Given the description of an element on the screen output the (x, y) to click on. 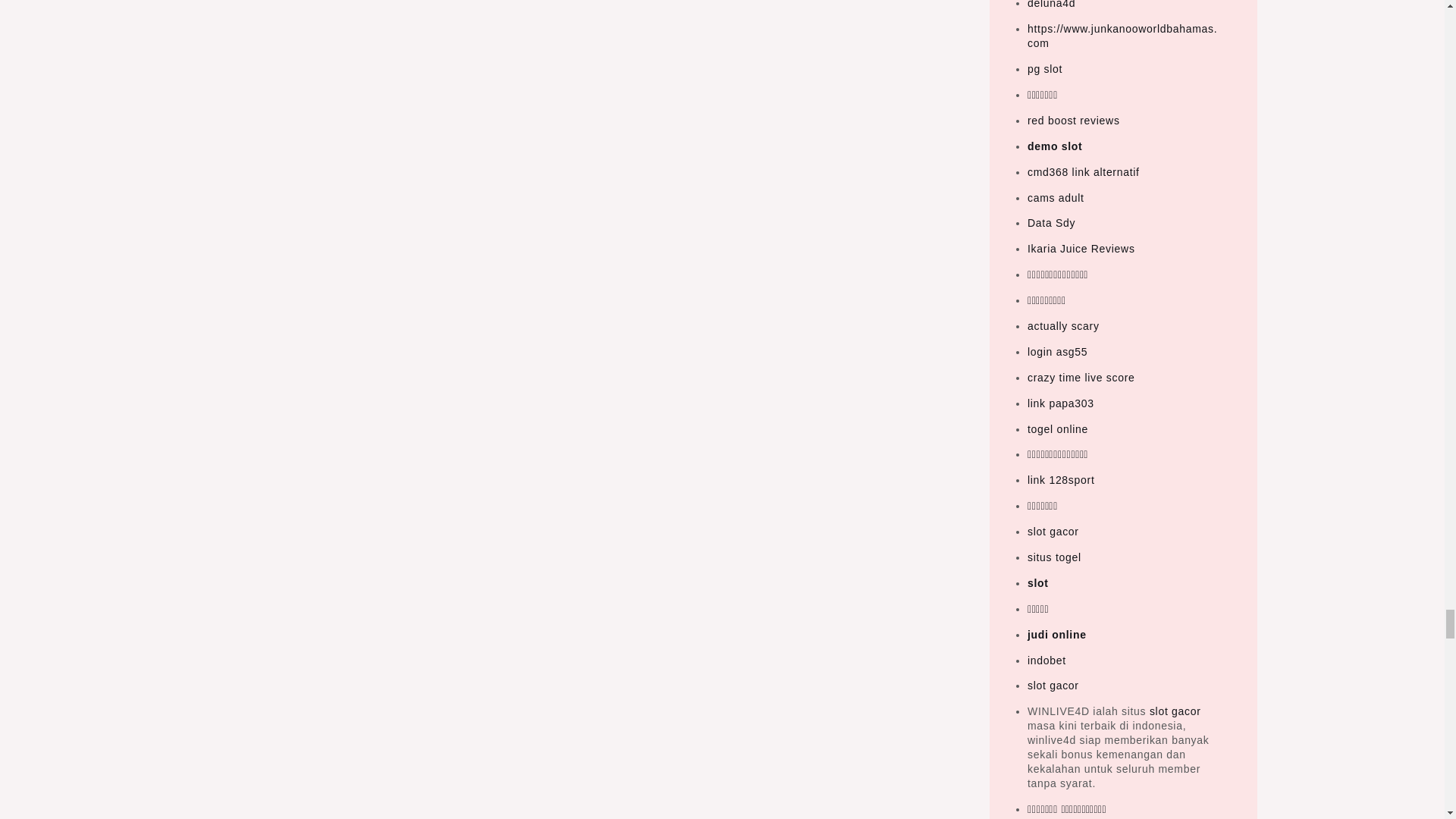
slot gacor (1175, 711)
